Given the description of an element on the screen output the (x, y) to click on. 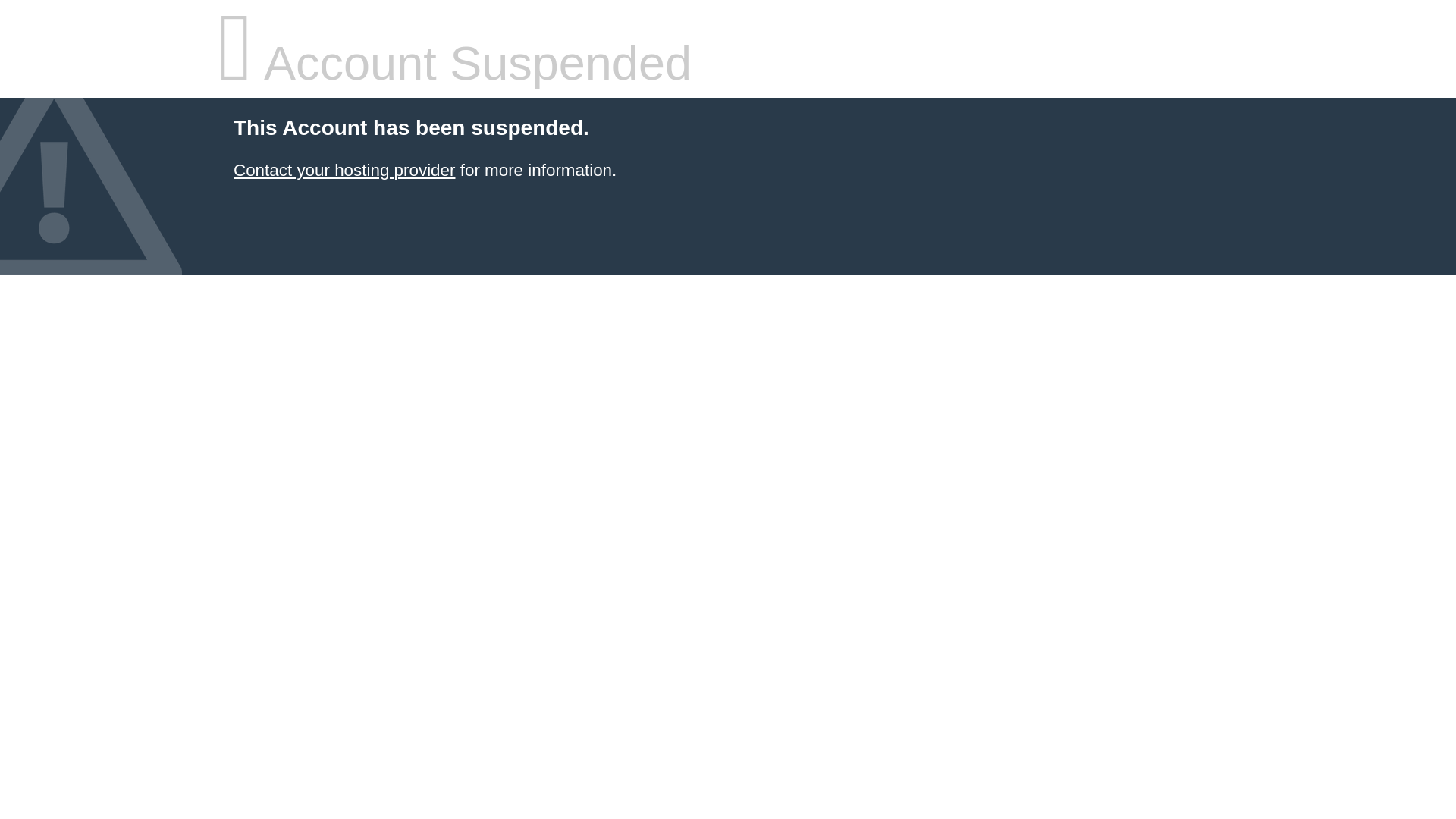
Contact your hosting provider (343, 169)
